Given the description of an element on the screen output the (x, y) to click on. 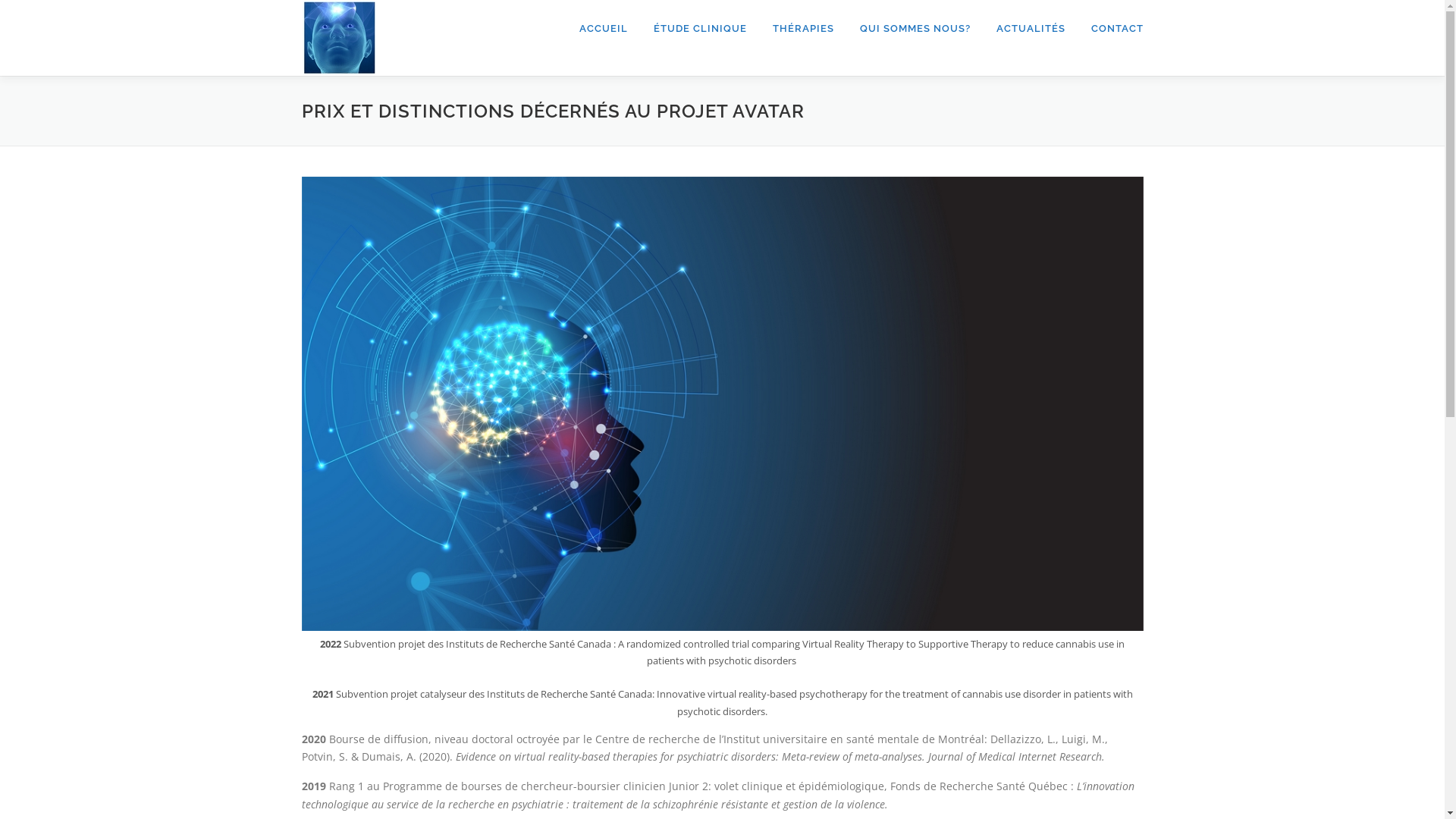
ACCUEIL Element type: text (602, 28)
CONTACT Element type: text (1110, 28)
QUI SOMMES NOUS? Element type: text (914, 28)
